Given the description of an element on the screen output the (x, y) to click on. 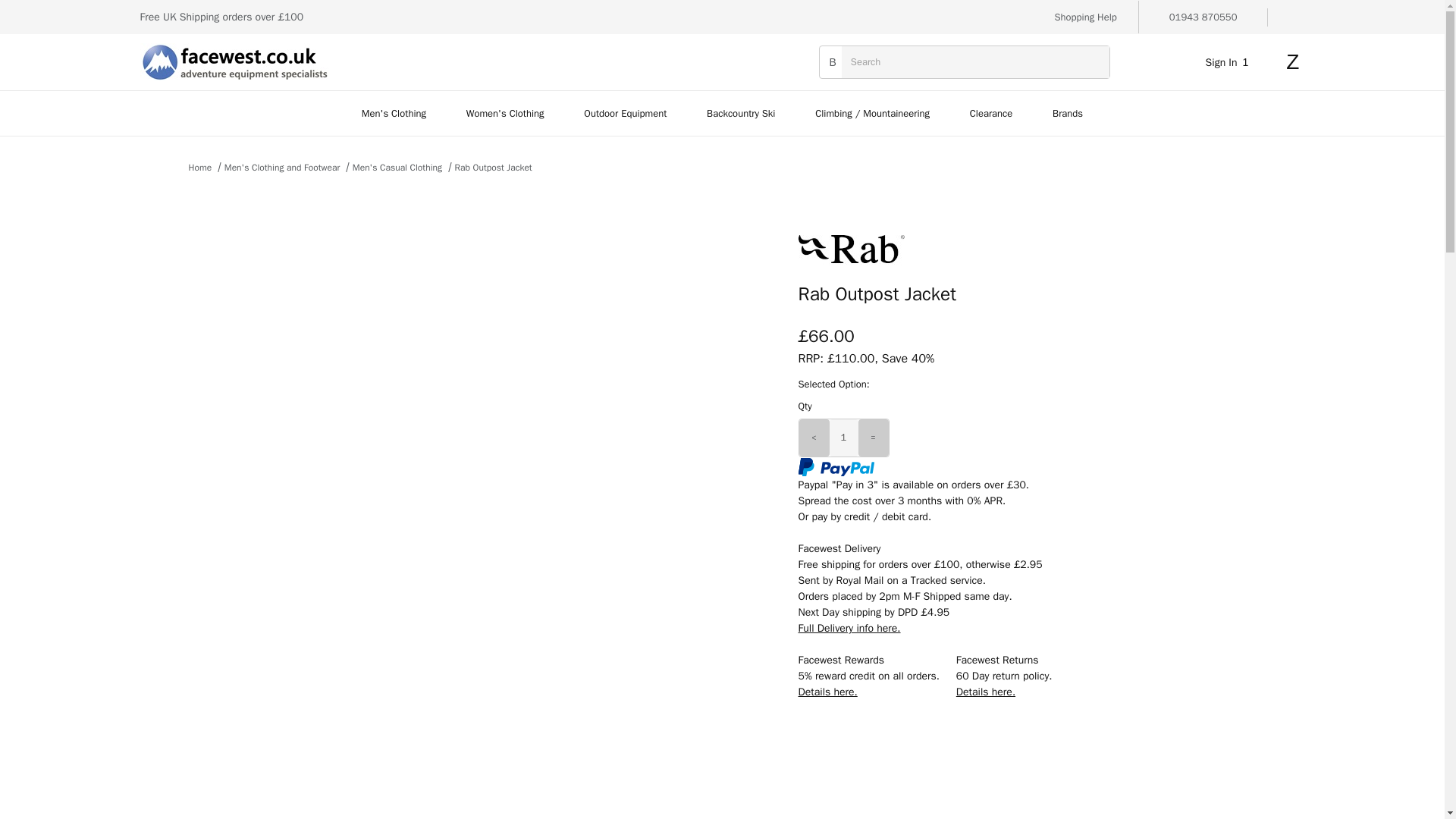
More Rab products (1012, 249)
Sign In (1218, 254)
Facewest (234, 61)
